Given the description of an element on the screen output the (x, y) to click on. 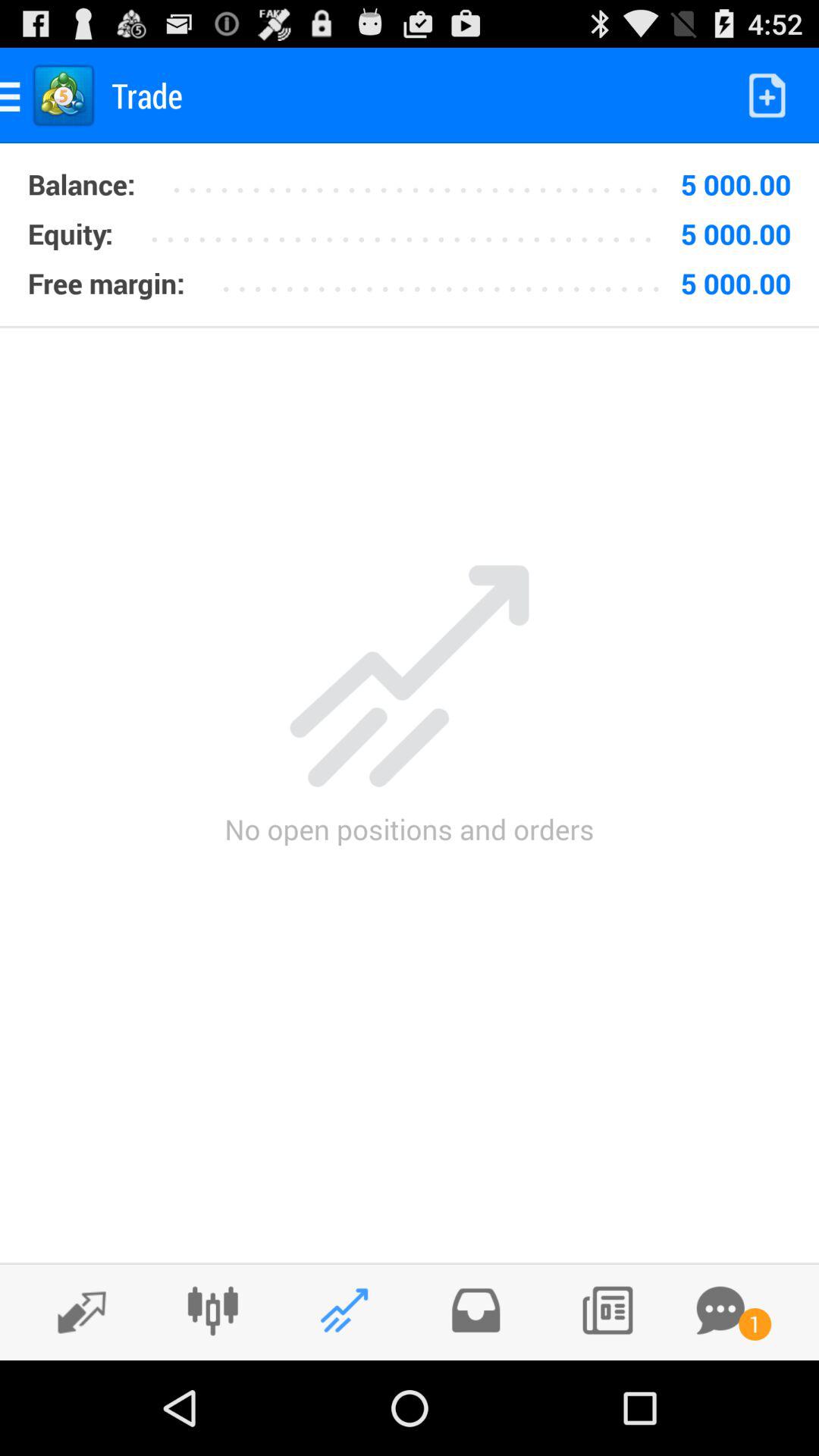
select item to the left of 5 000.00 (421, 178)
